Given the description of an element on the screen output the (x, y) to click on. 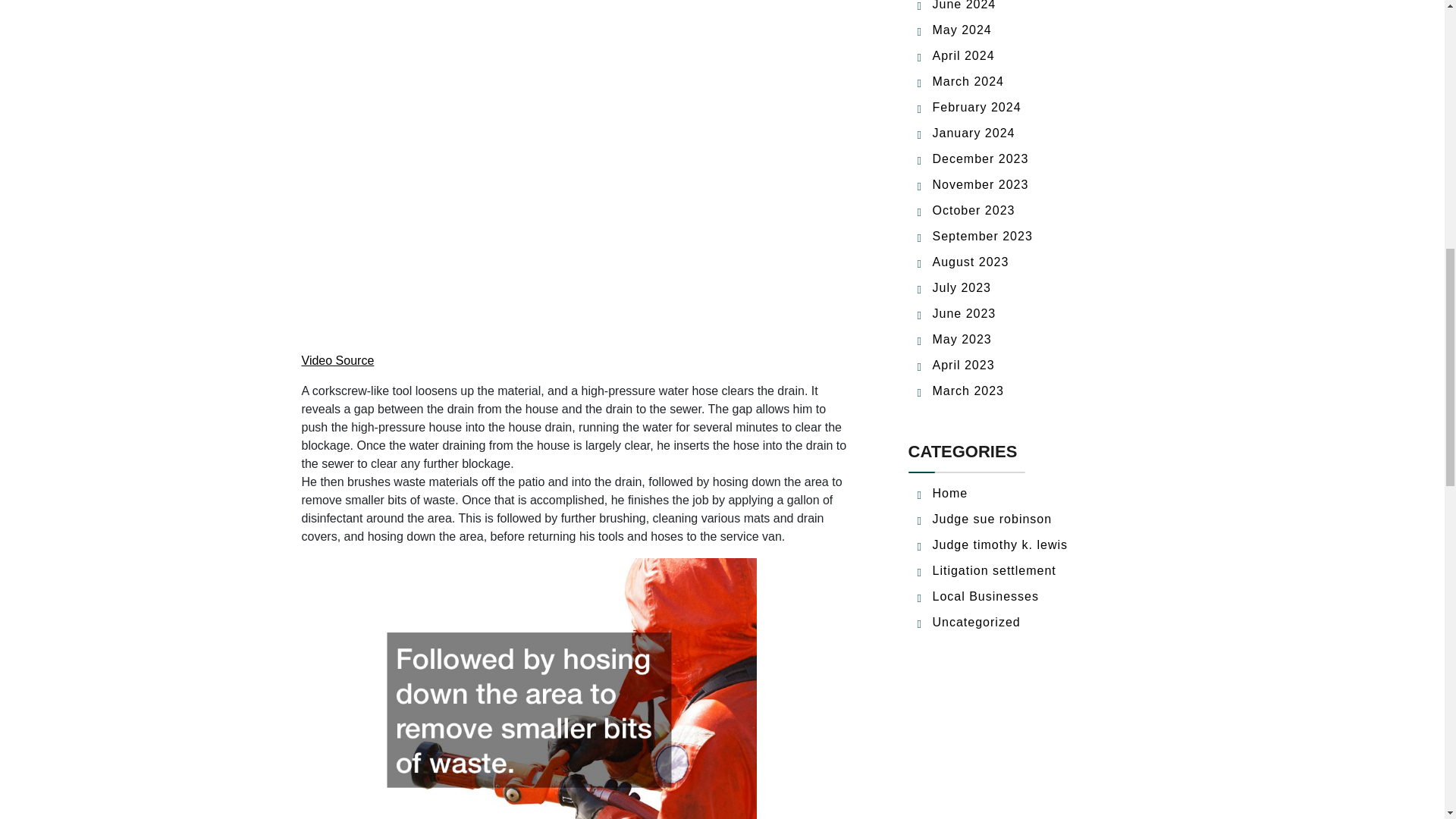
May 2024 (962, 29)
Video Source (337, 359)
March 2024 (968, 81)
January 2024 (973, 132)
June 2024 (964, 5)
February 2024 (977, 106)
November 2023 (981, 184)
September 2023 (982, 236)
December 2023 (981, 158)
July 2023 (962, 287)
